Given the description of an element on the screen output the (x, y) to click on. 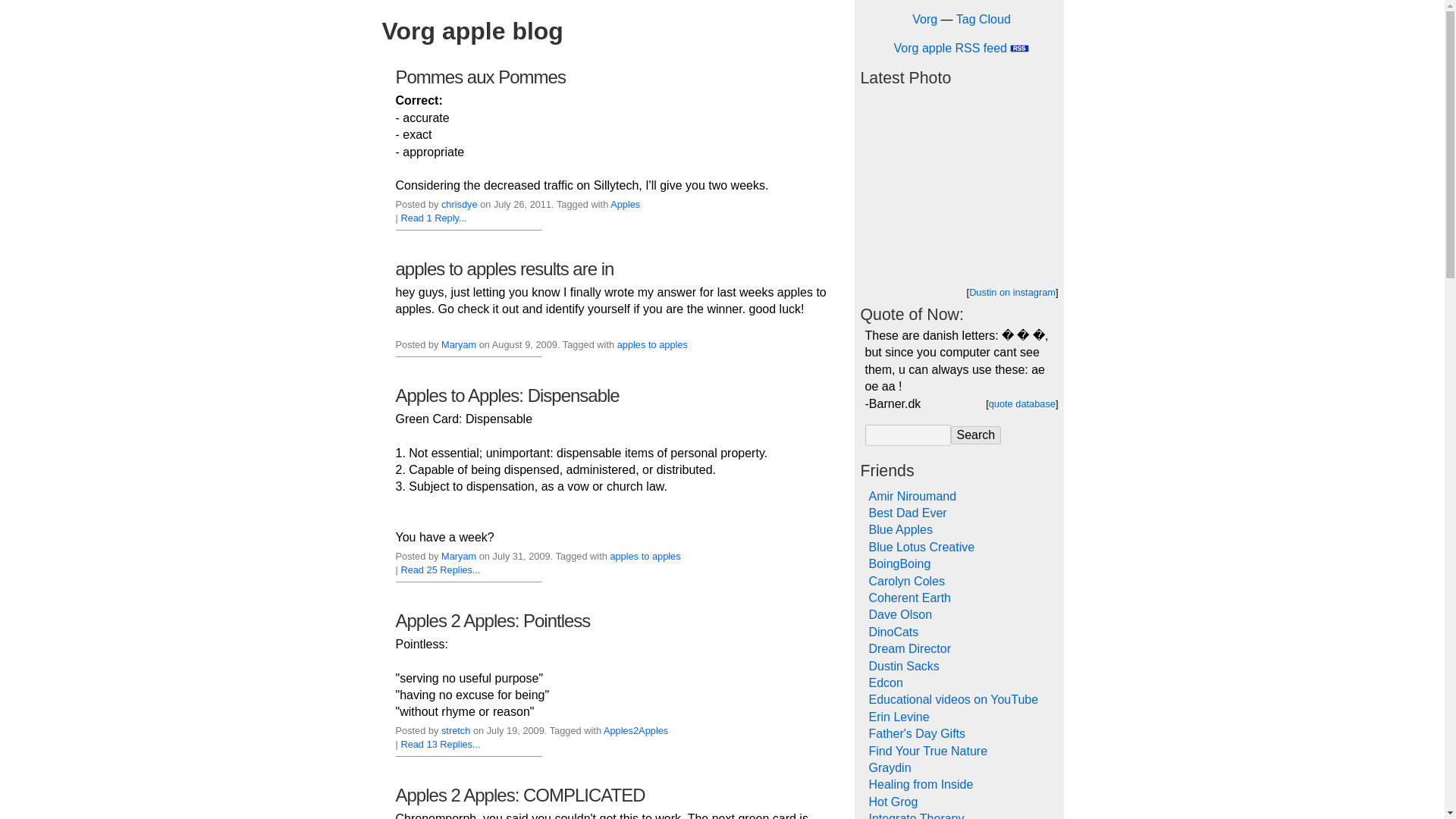
Apples 2 Apples: Pointless (493, 620)
Apples 2 Apples: COMPLICATED (520, 794)
apples (673, 344)
apples to apples results are in (505, 268)
Pommes aux Pommes (481, 76)
Search (975, 434)
apples (624, 555)
Apples to Apples: Dispensable (508, 394)
apples (666, 555)
Read 13 Replies... (440, 744)
